Given the description of an element on the screen output the (x, y) to click on. 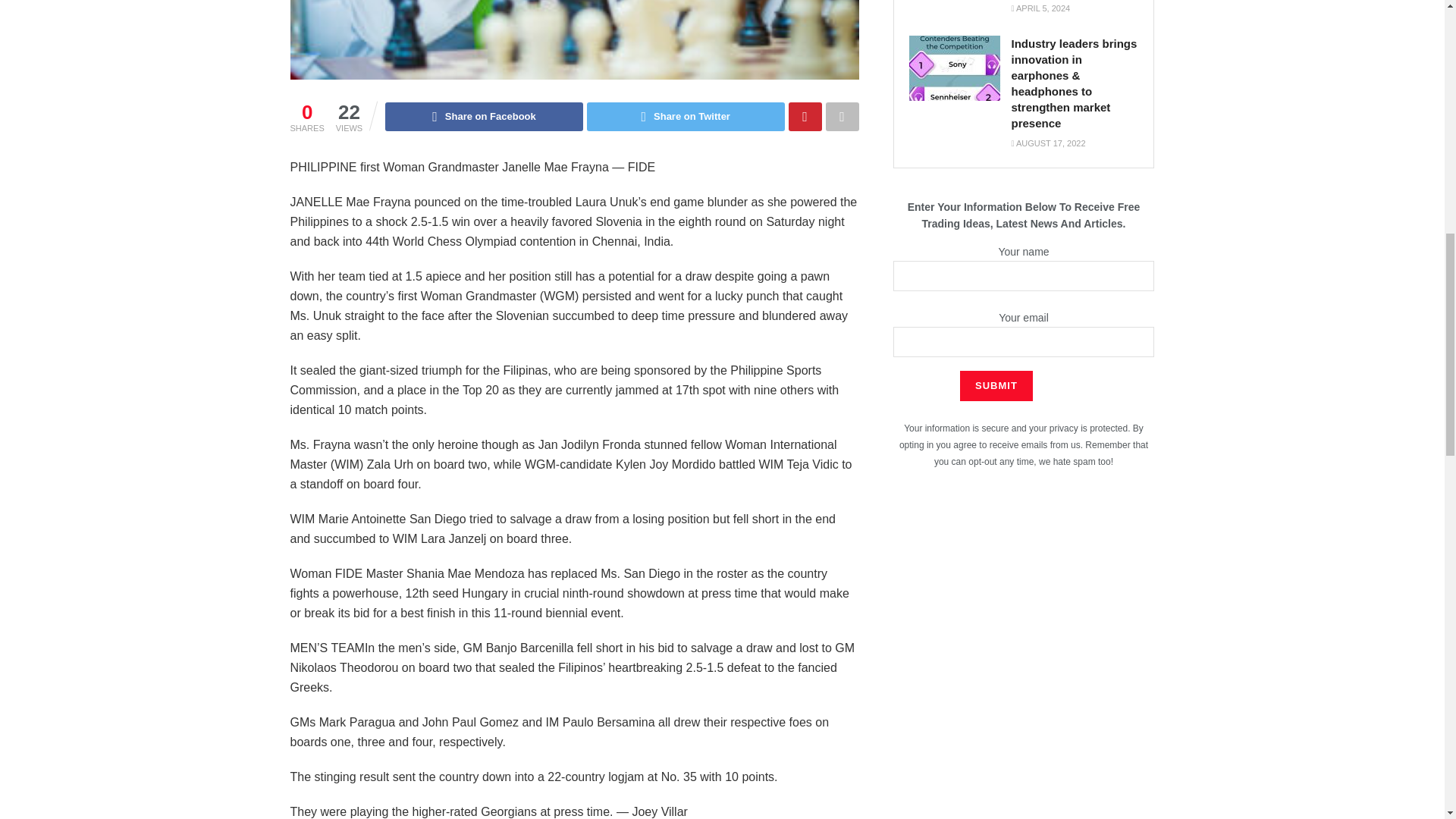
Submit (995, 386)
